Given the description of an element on the screen output the (x, y) to click on. 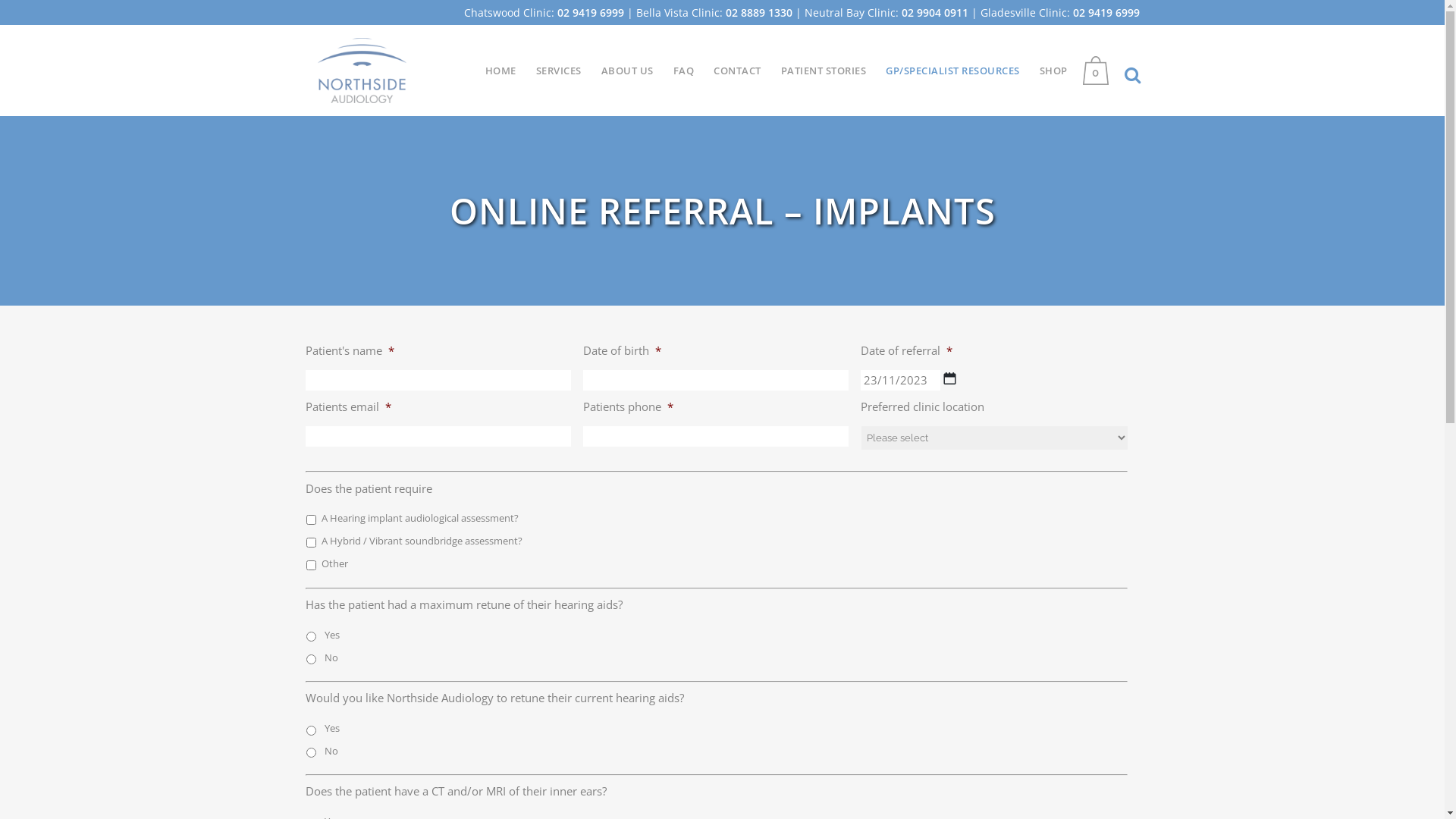
0 Element type: text (1098, 70)
ABOUT US Element type: text (627, 70)
SHOP Element type: text (1053, 70)
02 9419 6999 Element type: text (589, 12)
02 8889 1330 Element type: text (757, 12)
FAQ Element type: text (682, 70)
02 9419 6999 Element type: text (1105, 12)
HOME Element type: text (499, 70)
Select date Element type: hover (949, 378)
GP/SPECIALIST RESOURCES Element type: text (952, 70)
PATIENT STORIES Element type: text (822, 70)
SERVICES Element type: text (558, 70)
02 9904 0911 Element type: text (933, 12)
CONTACT Element type: text (737, 70)
